Given the description of an element on the screen output the (x, y) to click on. 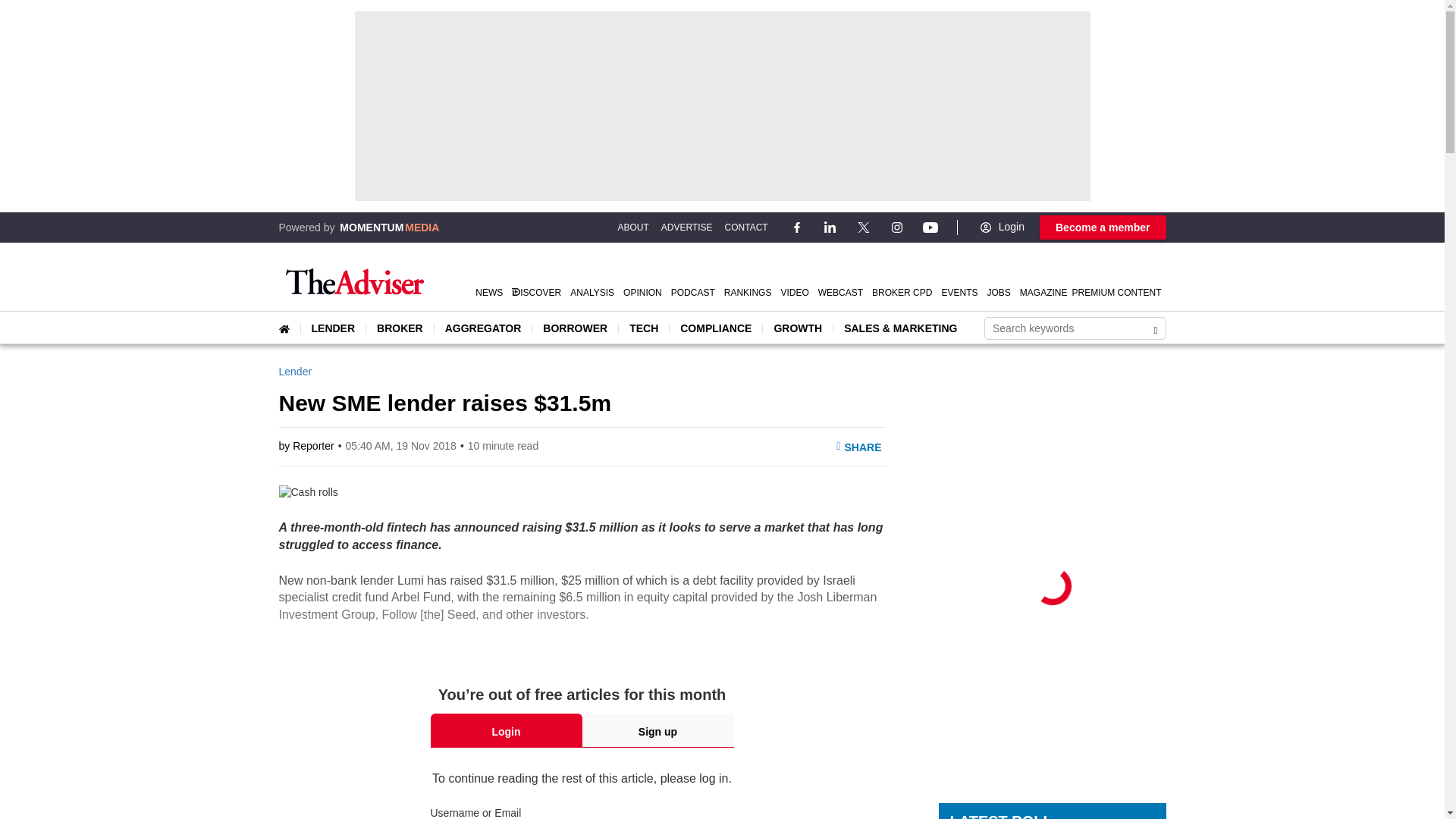
MOMENTUM MEDIA (389, 227)
Become a member (1102, 227)
